Given the description of an element on the screen output the (x, y) to click on. 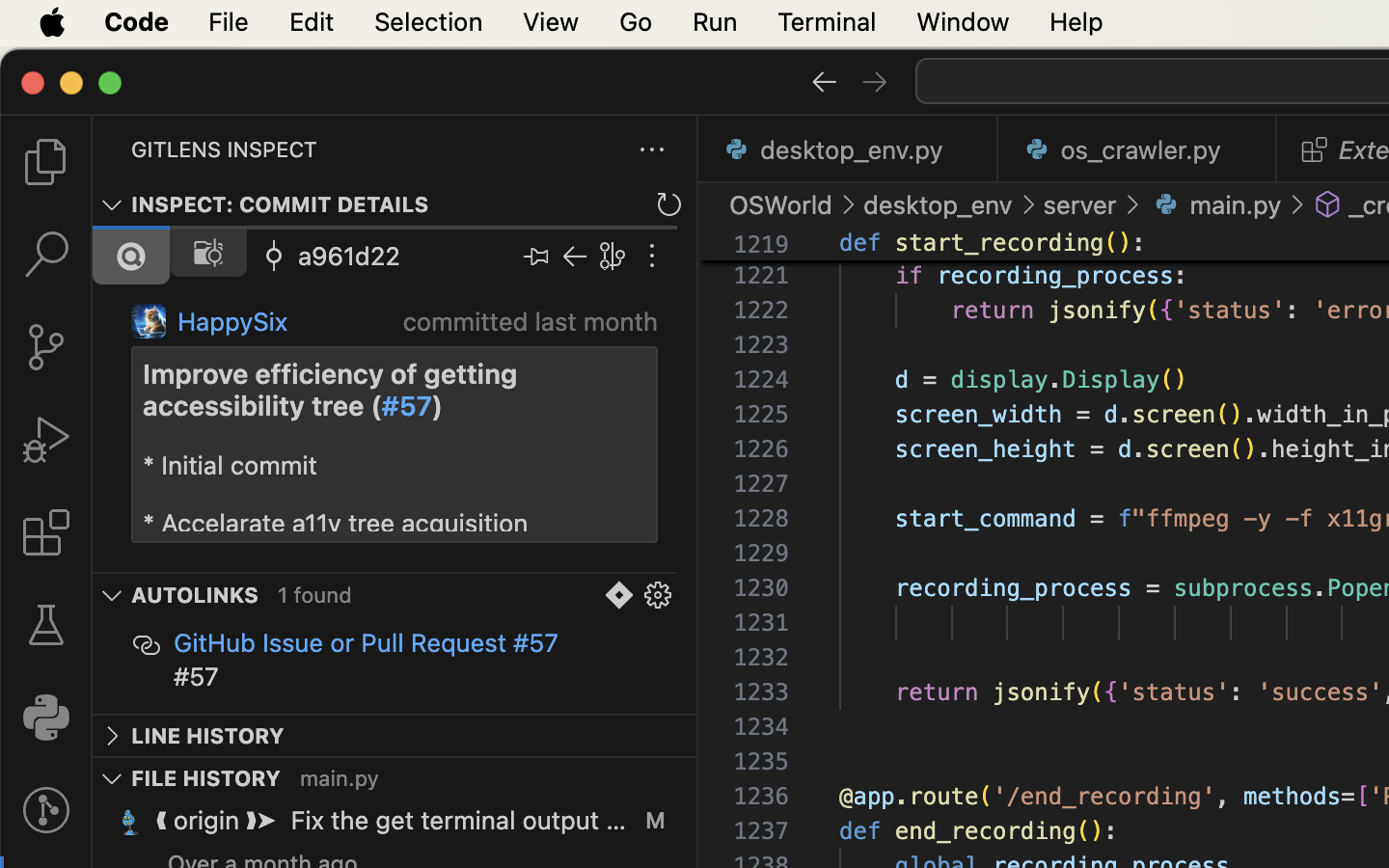
desktop_env Element type: AXGroup (938, 204)
0  Element type: AXRadioButton (46, 439)
 Element type: AXStaticText (111, 595)
#57 Element type: AXStaticText (406, 405)
0 os_crawler.py   Element type: AXRadioButton (1138, 149)
